Given the description of an element on the screen output the (x, y) to click on. 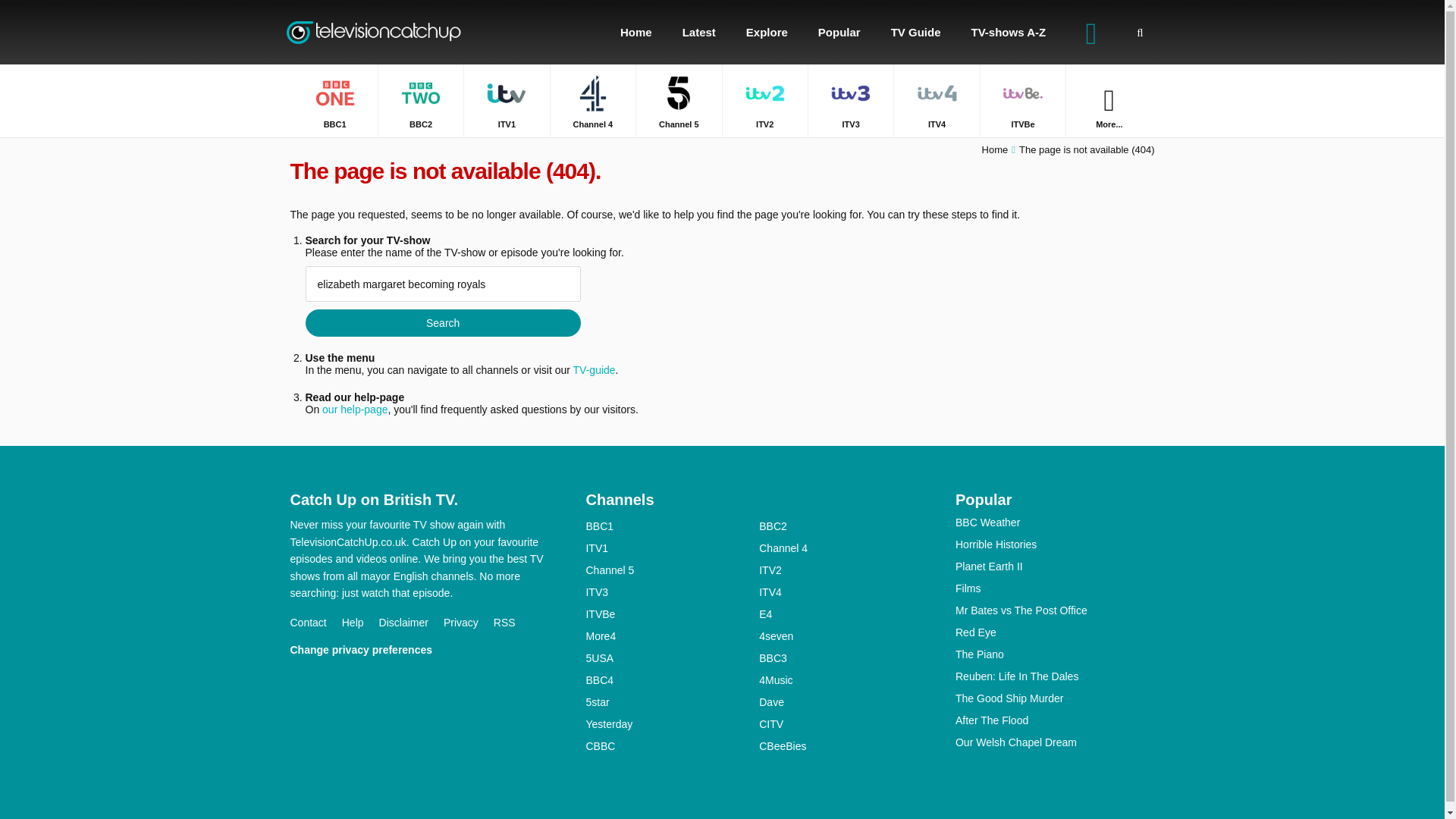
ITVBe (1022, 100)
our help-page (354, 409)
Home (635, 32)
ITV1 (506, 100)
Channel 4 (592, 100)
Search (441, 322)
ITVBe (1022, 100)
TV-shows A-Z (1008, 32)
Home (995, 149)
More... (1108, 100)
Channel 5 (678, 100)
Contact (314, 622)
BBC2 (420, 100)
elizabeth margaret becoming royals (441, 284)
TV Guide (916, 32)
